Given the description of an element on the screen output the (x, y) to click on. 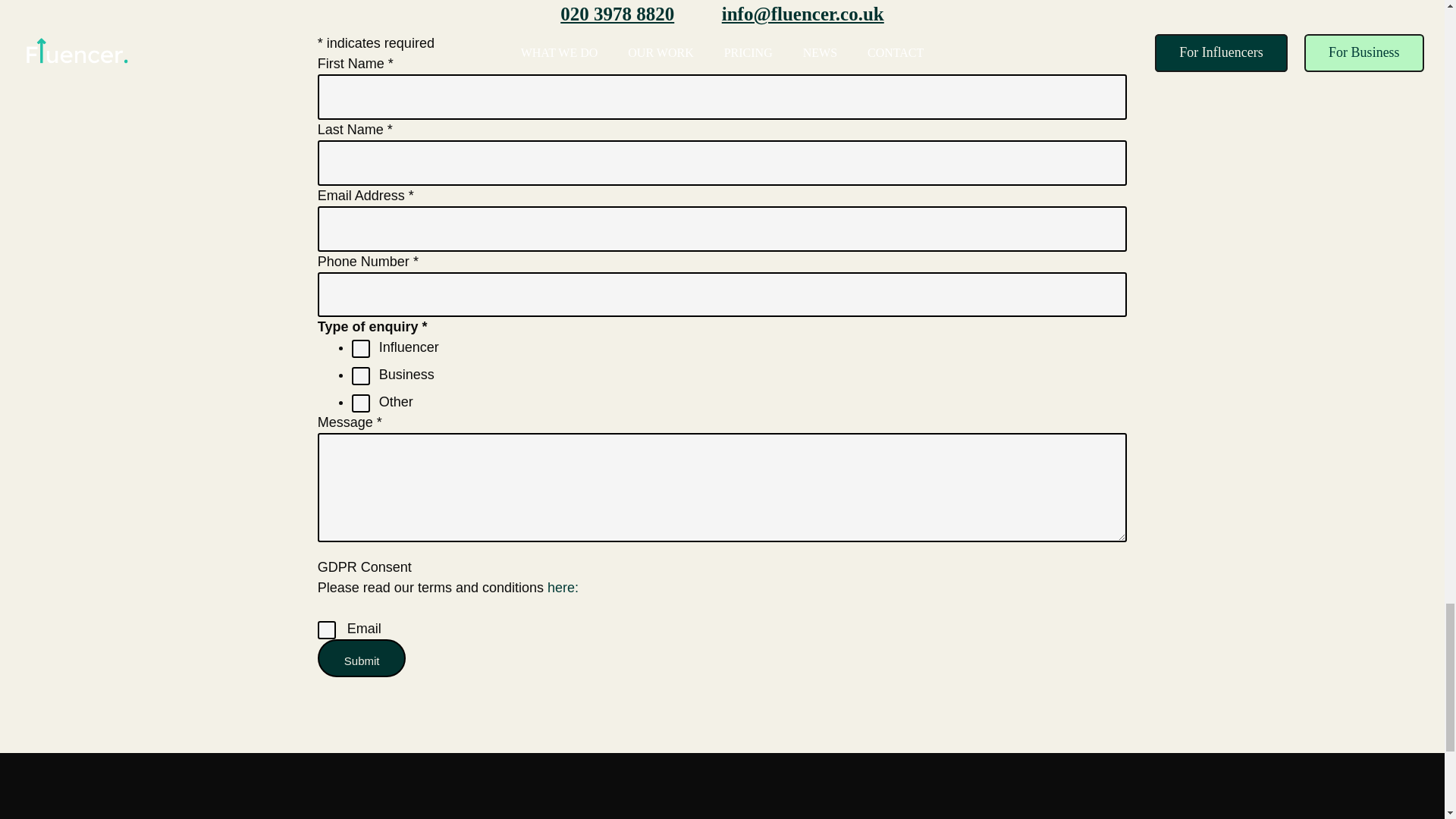
Influencer (360, 348)
020 3978 8820 (617, 14)
Submit (361, 658)
here: (562, 587)
Y (326, 629)
Other (360, 402)
Submit (361, 658)
Business (360, 375)
